Given the description of an element on the screen output the (x, y) to click on. 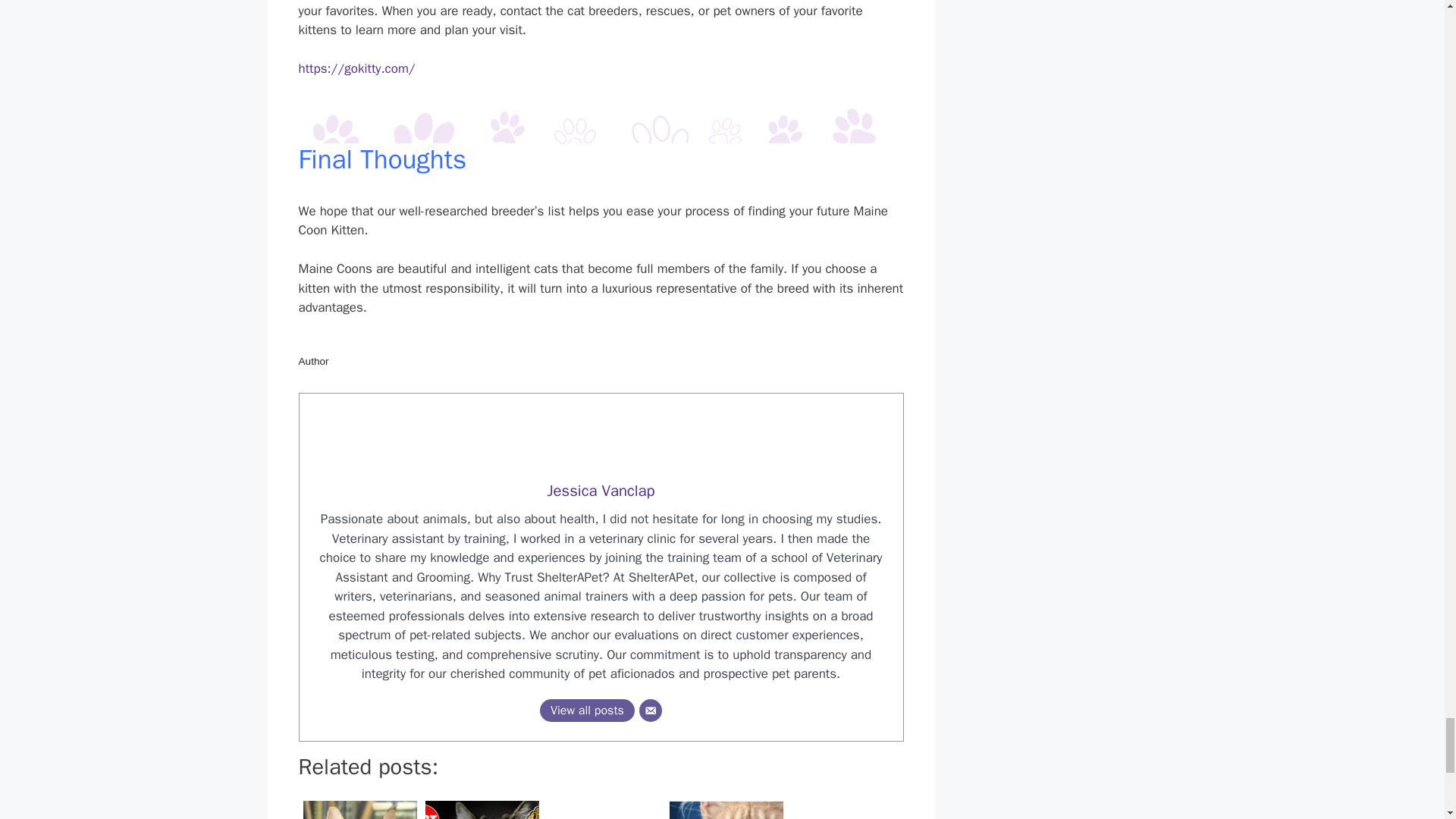
Jessica Vanclap (600, 490)
Jessica Vanclap (600, 490)
View all posts (587, 710)
View all posts (587, 710)
